Given the description of an element on the screen output the (x, y) to click on. 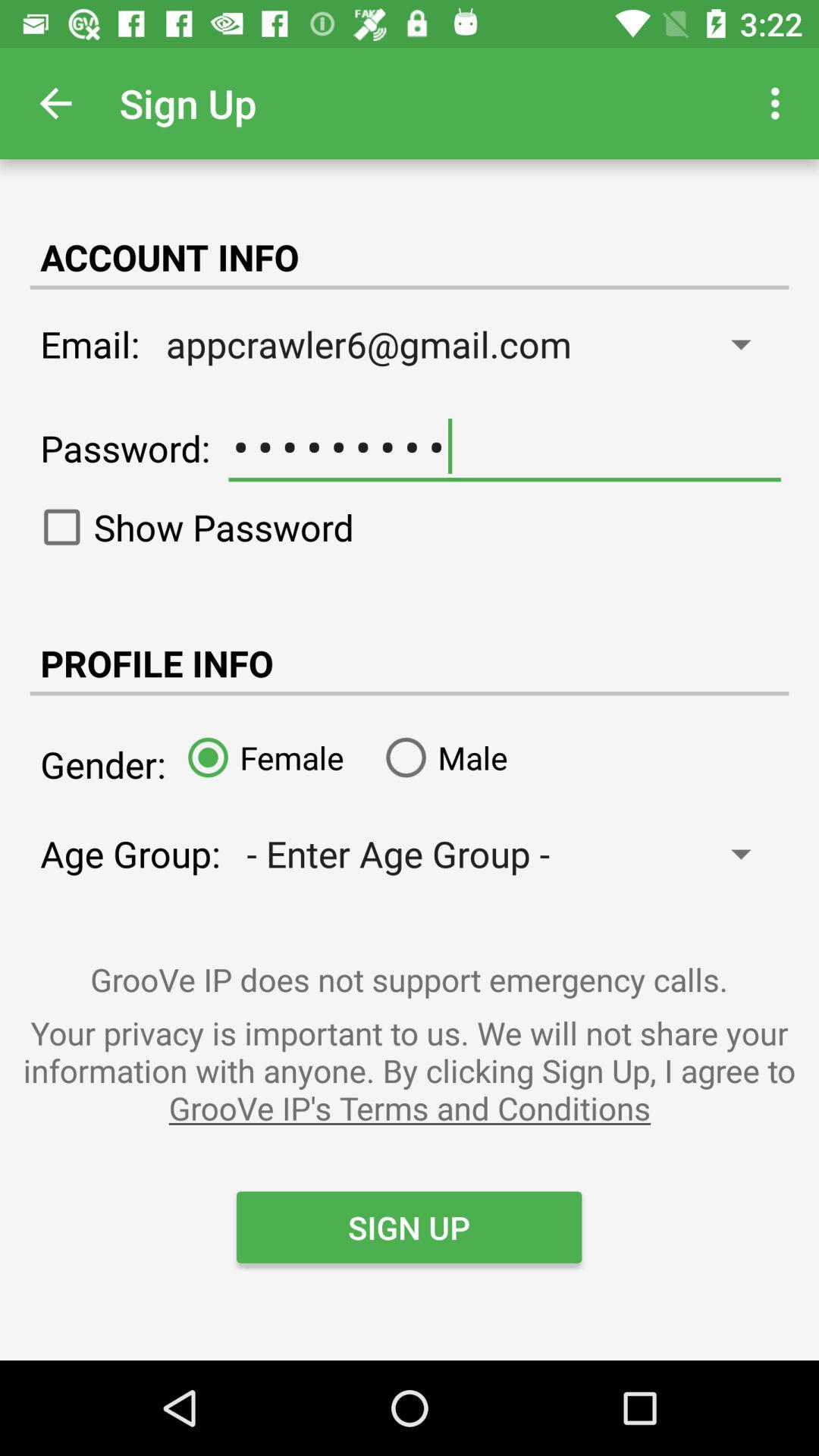
select icon to the right of password: item (504, 446)
